Given the description of an element on the screen output the (x, y) to click on. 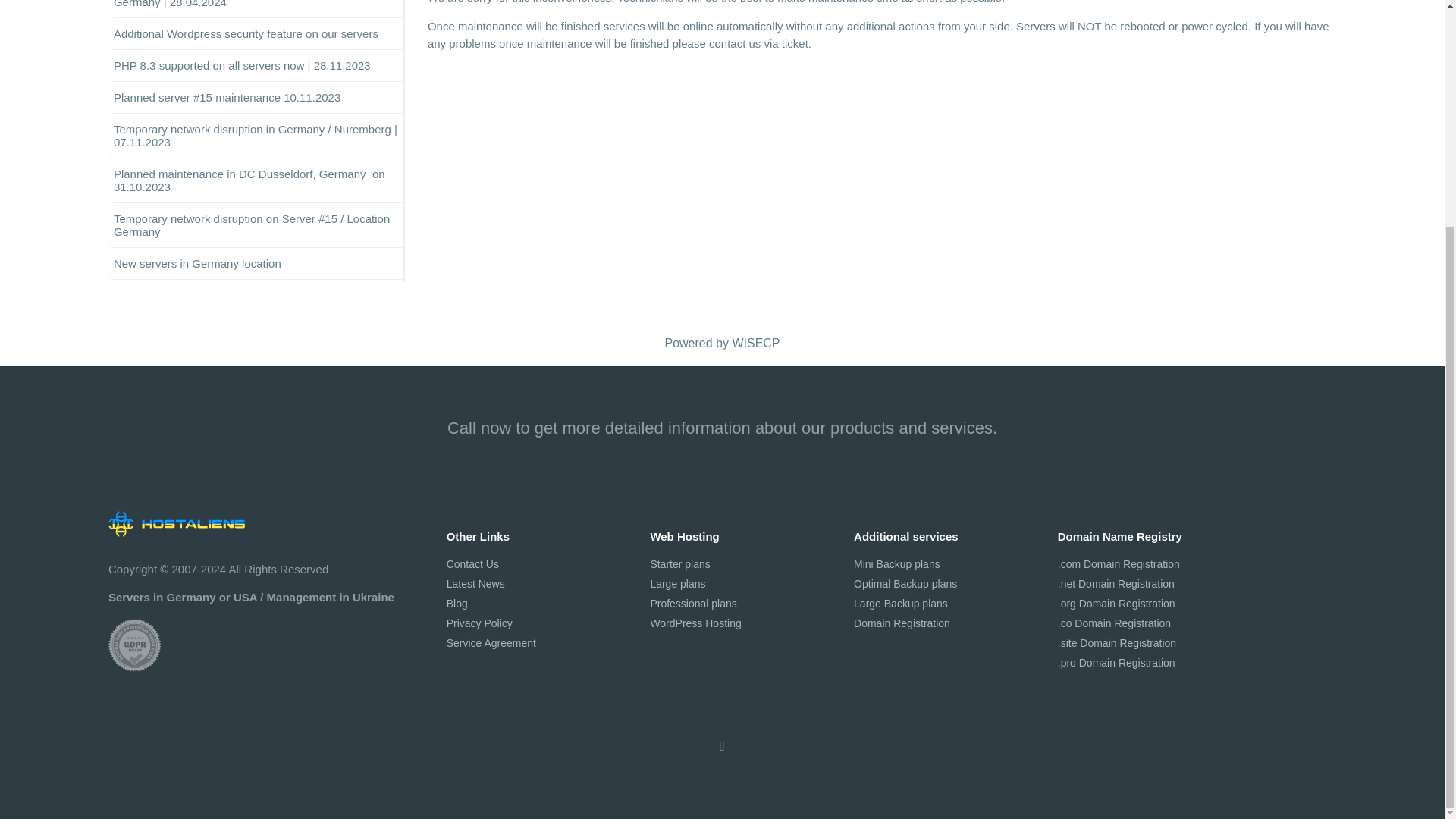
This site is GDPR compliant. (133, 644)
logo (175, 523)
